Given the description of an element on the screen output the (x, y) to click on. 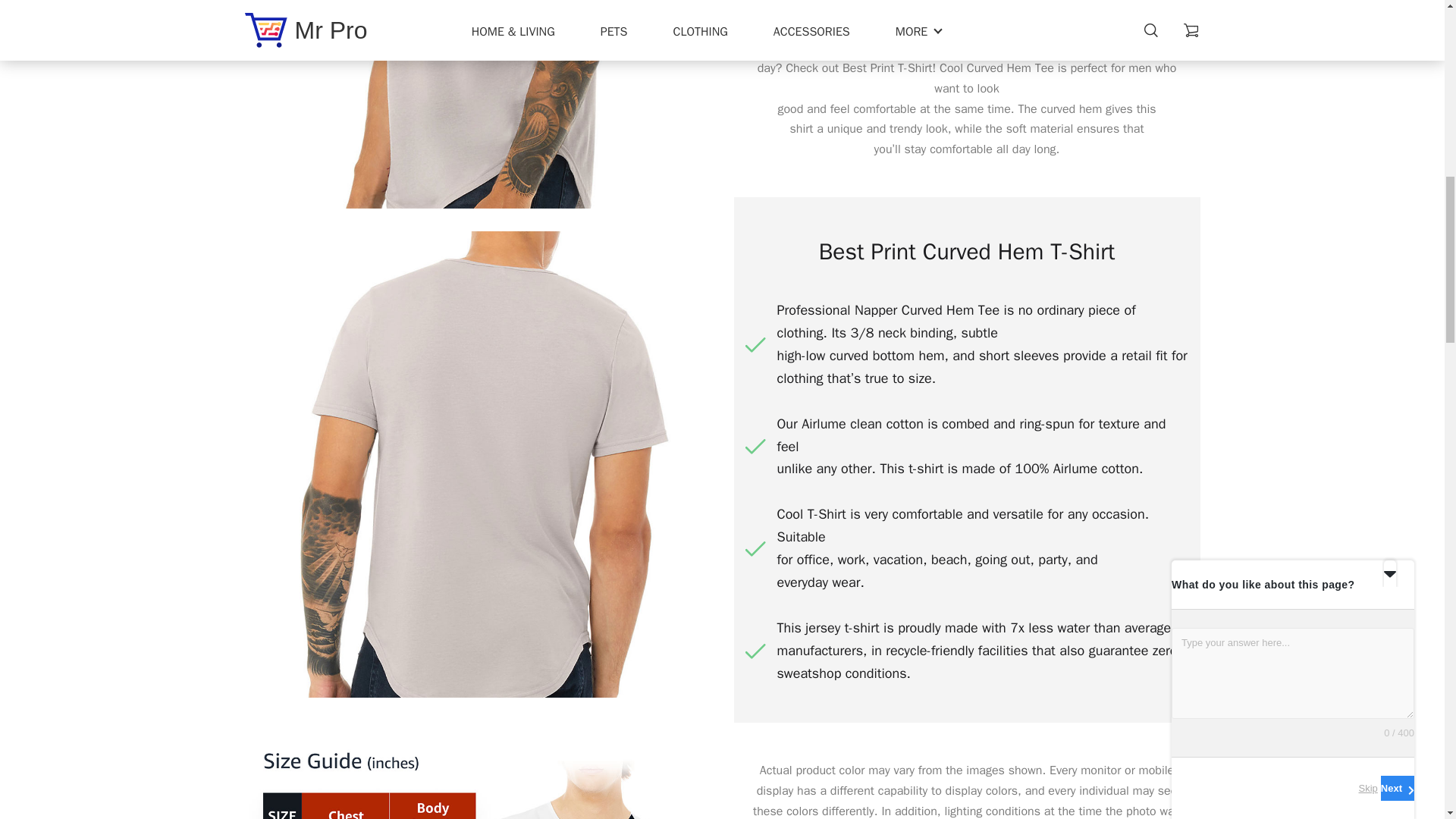
2363-87b09d.jpeg (477, 769)
2363-98aeb1.jpeg (477, 104)
